Given the description of an element on the screen output the (x, y) to click on. 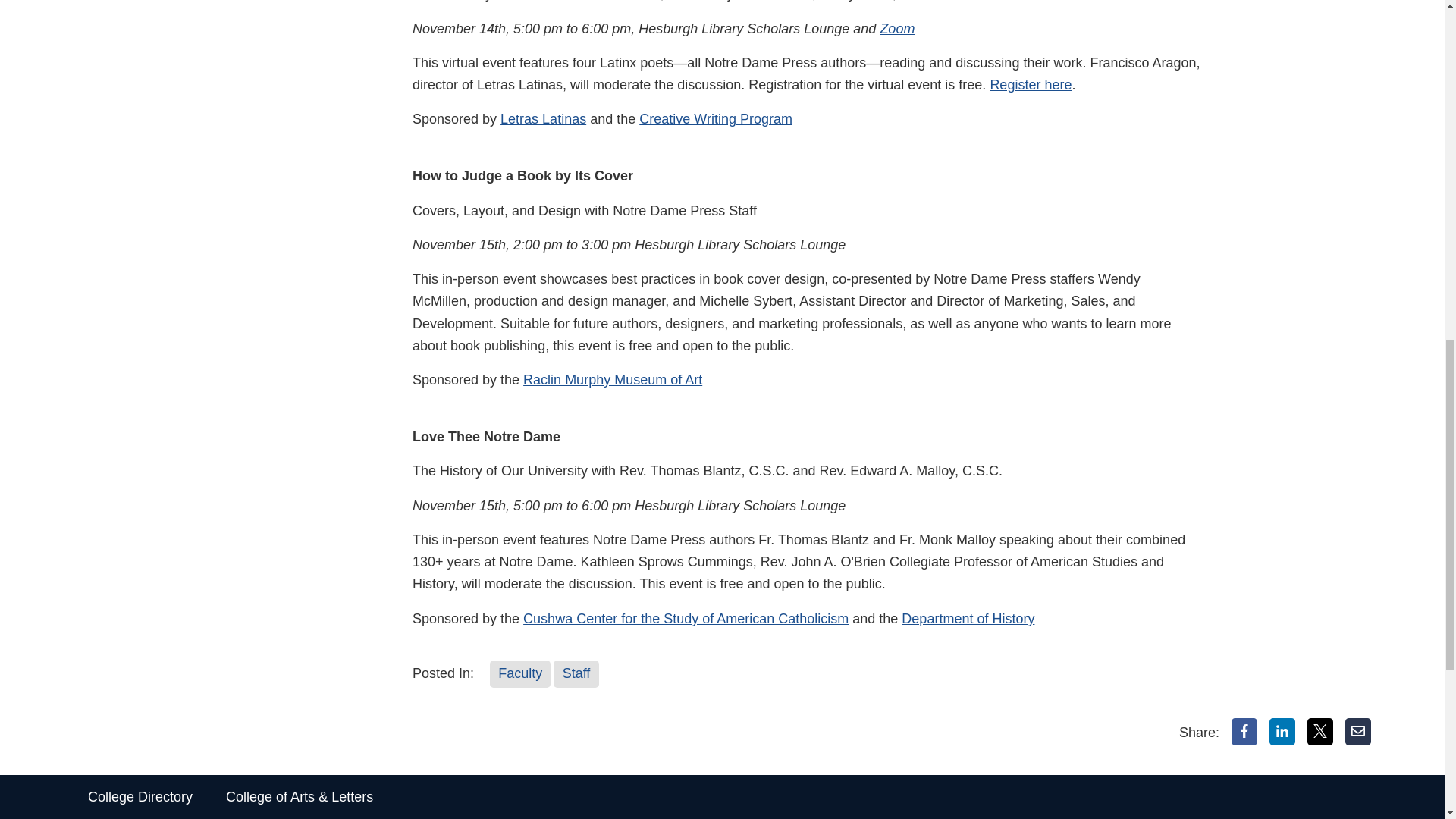
Zoom (896, 28)
Facebook (1244, 731)
Letras Latinas (543, 118)
Raclin Murphy Museum of Art (611, 379)
LinkedIn (1282, 731)
Email (1358, 731)
Register here (1030, 84)
Creative Writing Program (715, 118)
Cushwa Center for the Study of American Catholicism (685, 618)
